Given the description of an element on the screen output the (x, y) to click on. 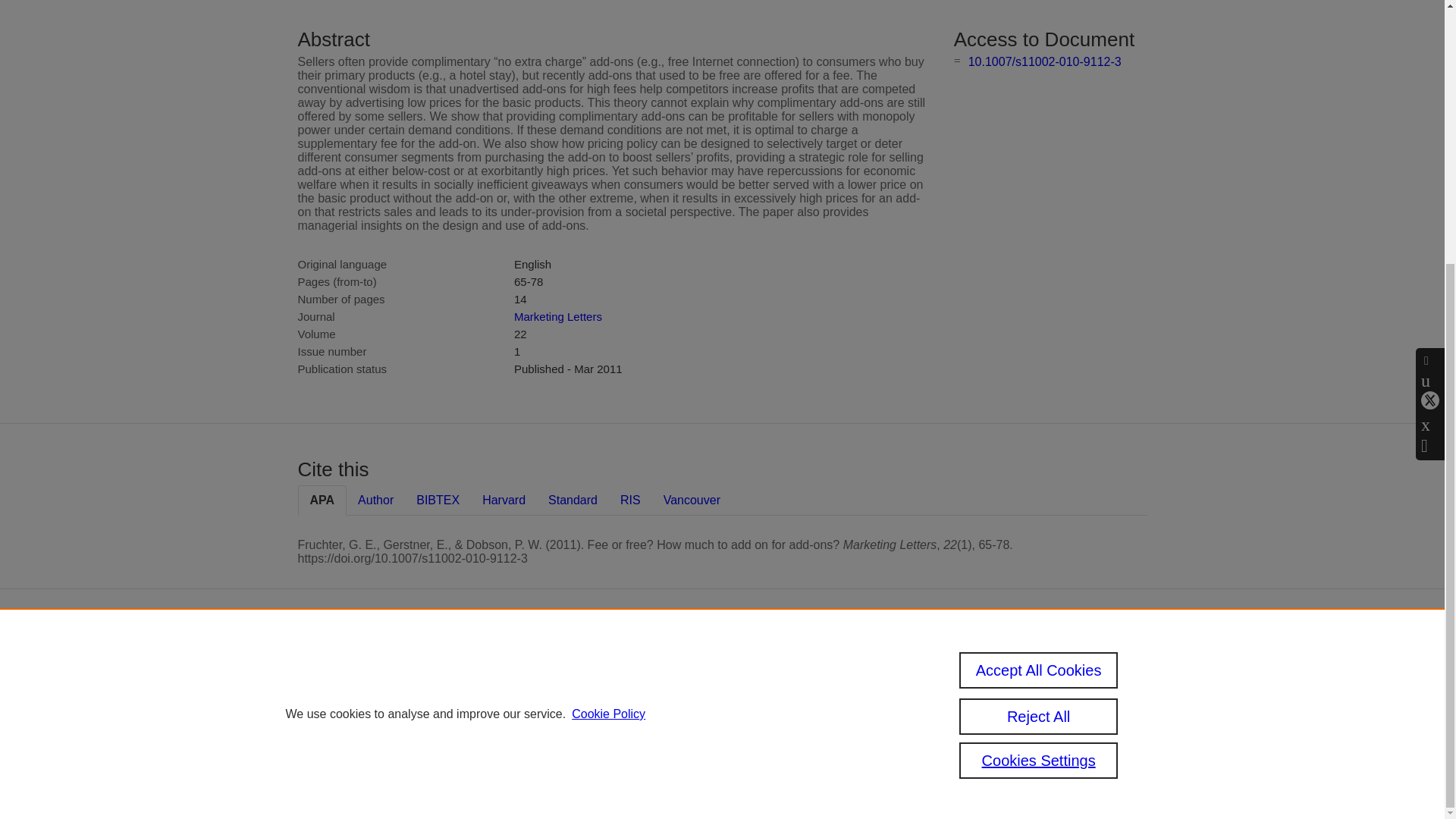
About web accessibility (1005, 712)
Elsevier B.V. (764, 685)
use of cookies (660, 739)
Contact us (1125, 670)
Report vulnerability (1021, 739)
Pure (620, 664)
Log in to Pure (584, 780)
University of East Anglia data protection policy (1027, 675)
Cookies Settings (591, 760)
Marketing Letters (557, 316)
